Given the description of an element on the screen output the (x, y) to click on. 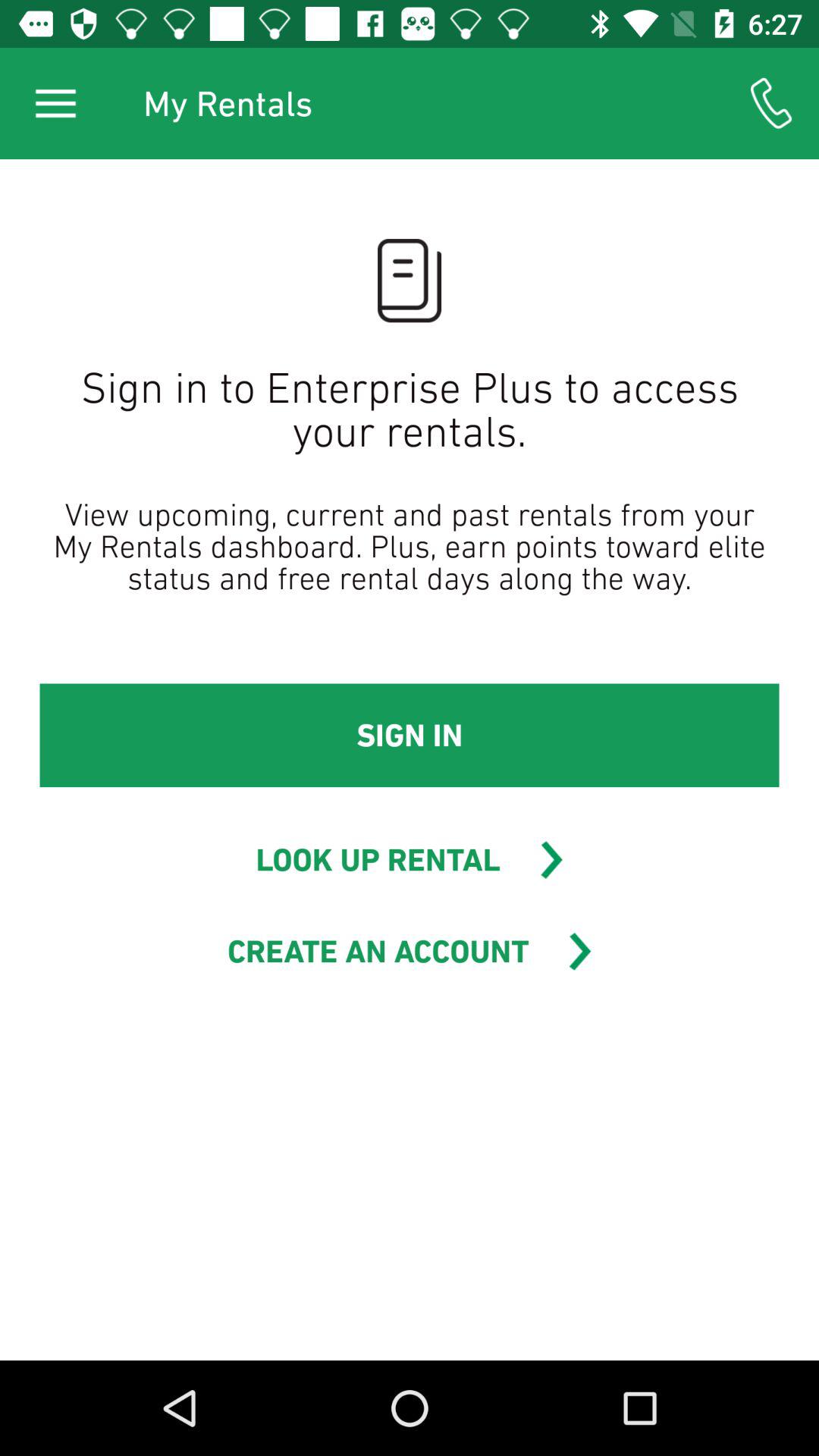
click look up rental icon (377, 859)
